Given the description of an element on the screen output the (x, y) to click on. 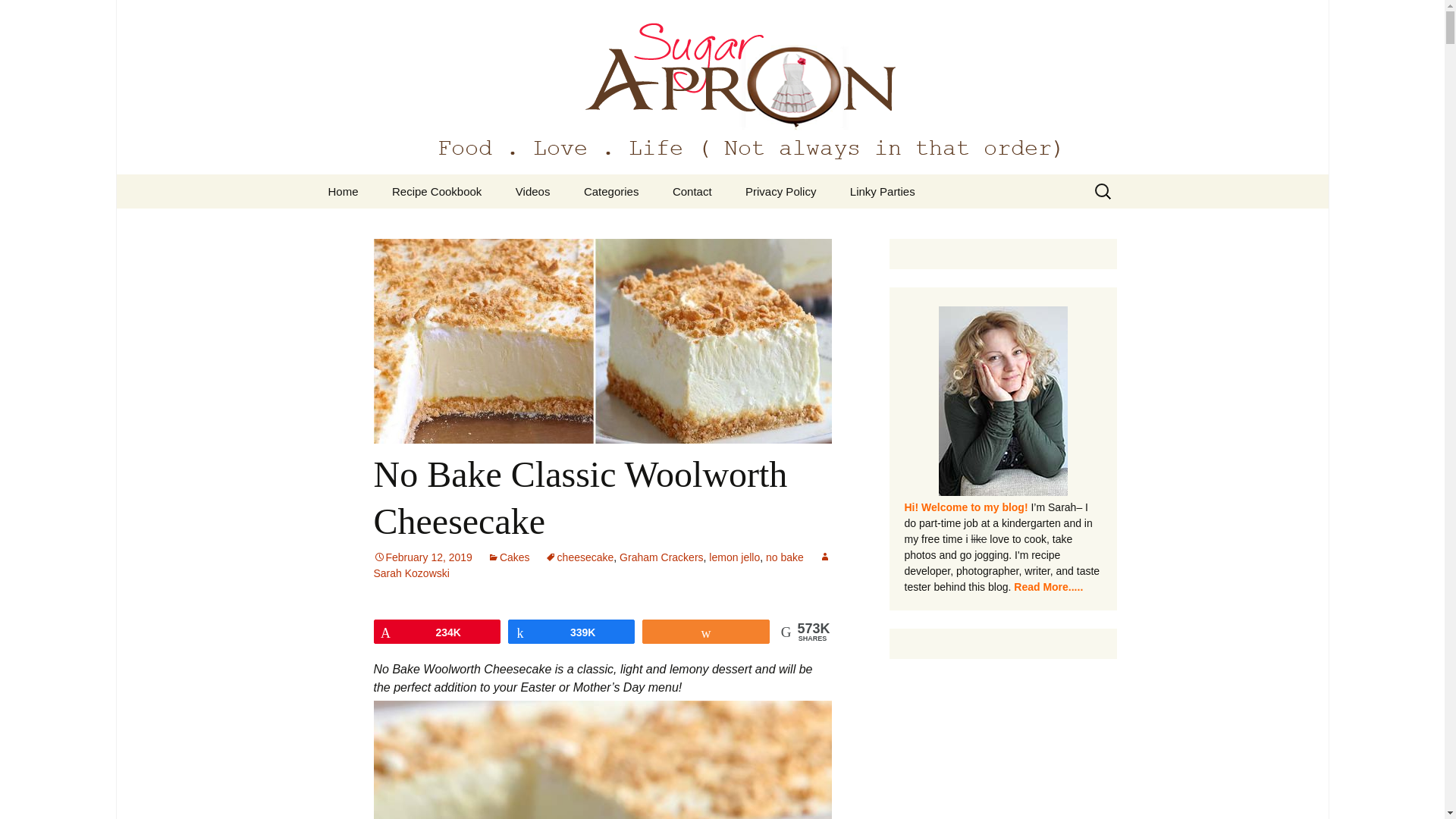
Sarah Kozowski (600, 565)
339K (570, 630)
lemon jello (734, 557)
Graham Crackers (661, 557)
Search (18, 15)
Home (342, 191)
Read More about Sarah (1002, 409)
Categories (611, 191)
